Given the description of an element on the screen output the (x, y) to click on. 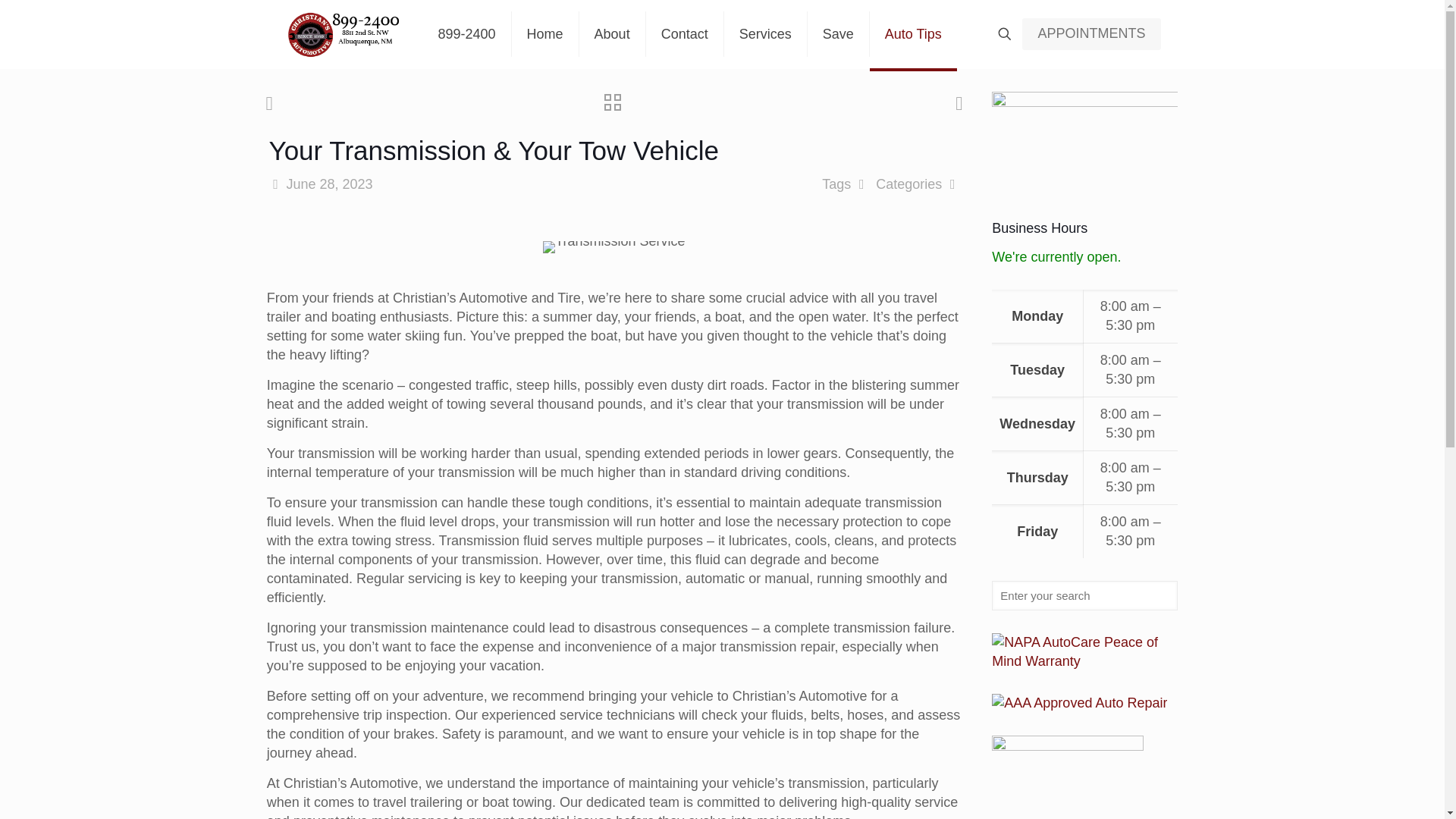
About (612, 33)
Services (765, 33)
Save (838, 33)
Christian's Automotive, Tire and Suspension (340, 33)
Auto Tips (912, 33)
Home (545, 33)
899-2400 (467, 33)
Contact (684, 33)
APPOINTMENTS (1091, 33)
